Given the description of an element on the screen output the (x, y) to click on. 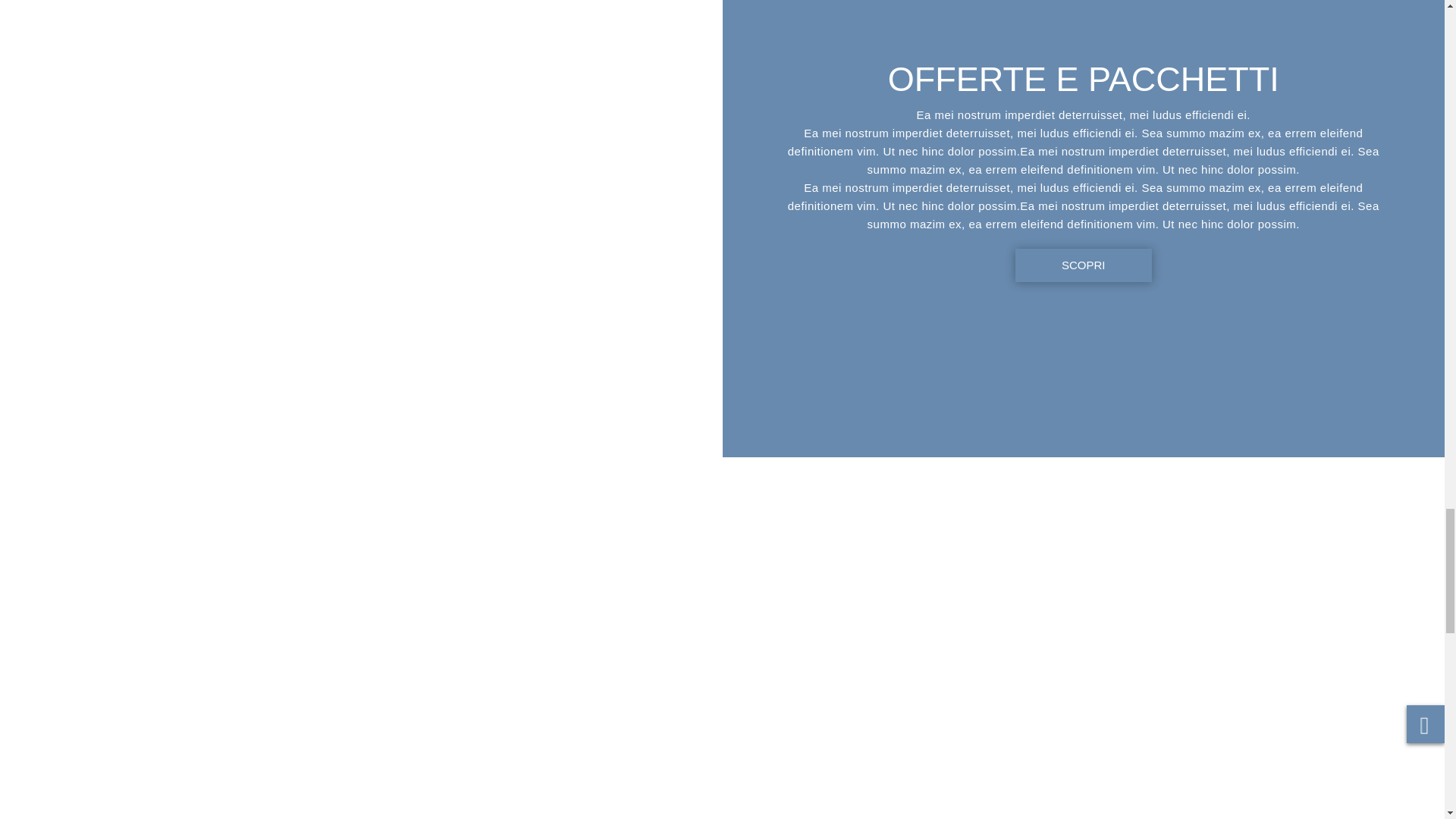
SCOPRI (1082, 265)
